Given the description of an element on the screen output the (x, y) to click on. 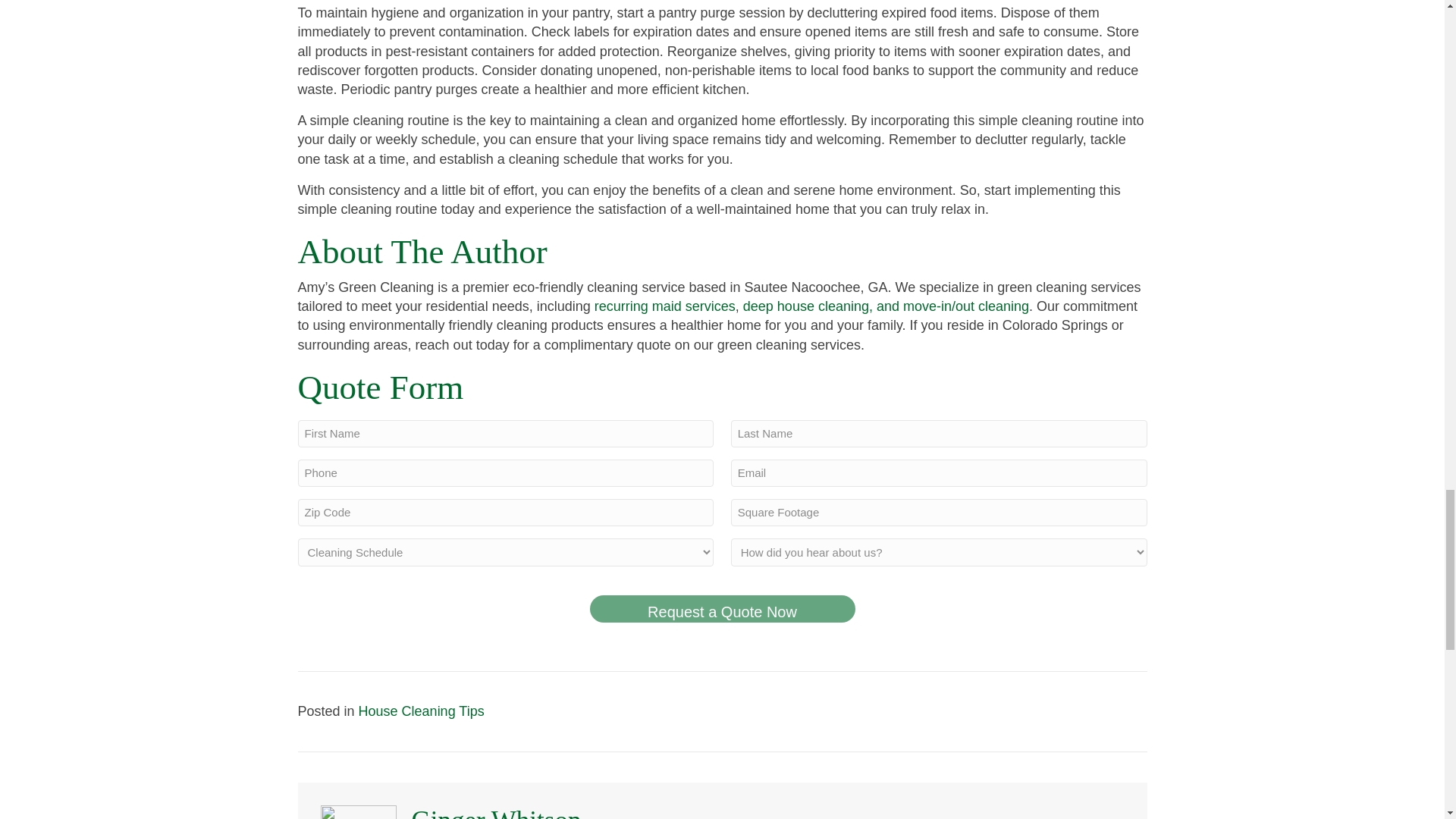
recurring maid services (664, 305)
Request a Quote Now (722, 608)
Request a Quote Now (722, 608)
House Cleaning Tips (421, 711)
